Given the description of an element on the screen output the (x, y) to click on. 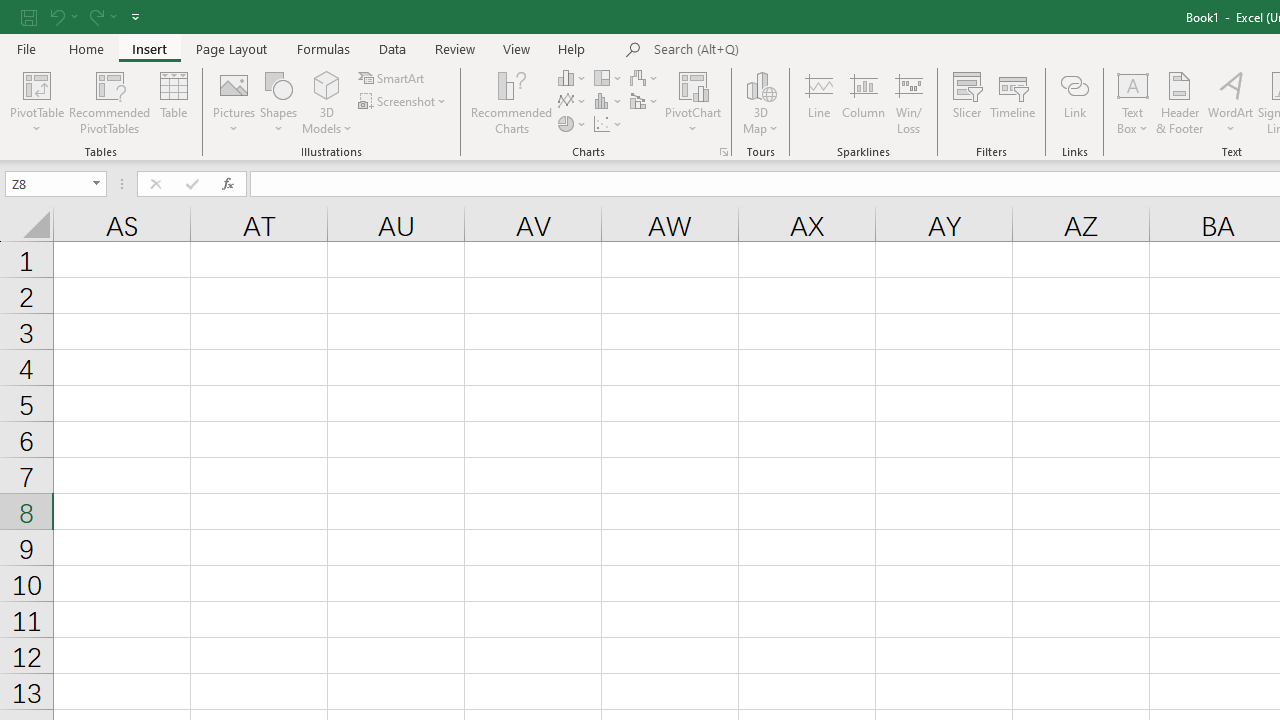
Win/Loss (909, 102)
PivotTable (36, 102)
Insert Column or Bar Chart (573, 78)
Insert Waterfall, Funnel, Stock, Surface, or Radar Chart (645, 78)
3D Models (326, 102)
Header & Footer... (1179, 102)
3D Map (760, 84)
